Given the description of an element on the screen output the (x, y) to click on. 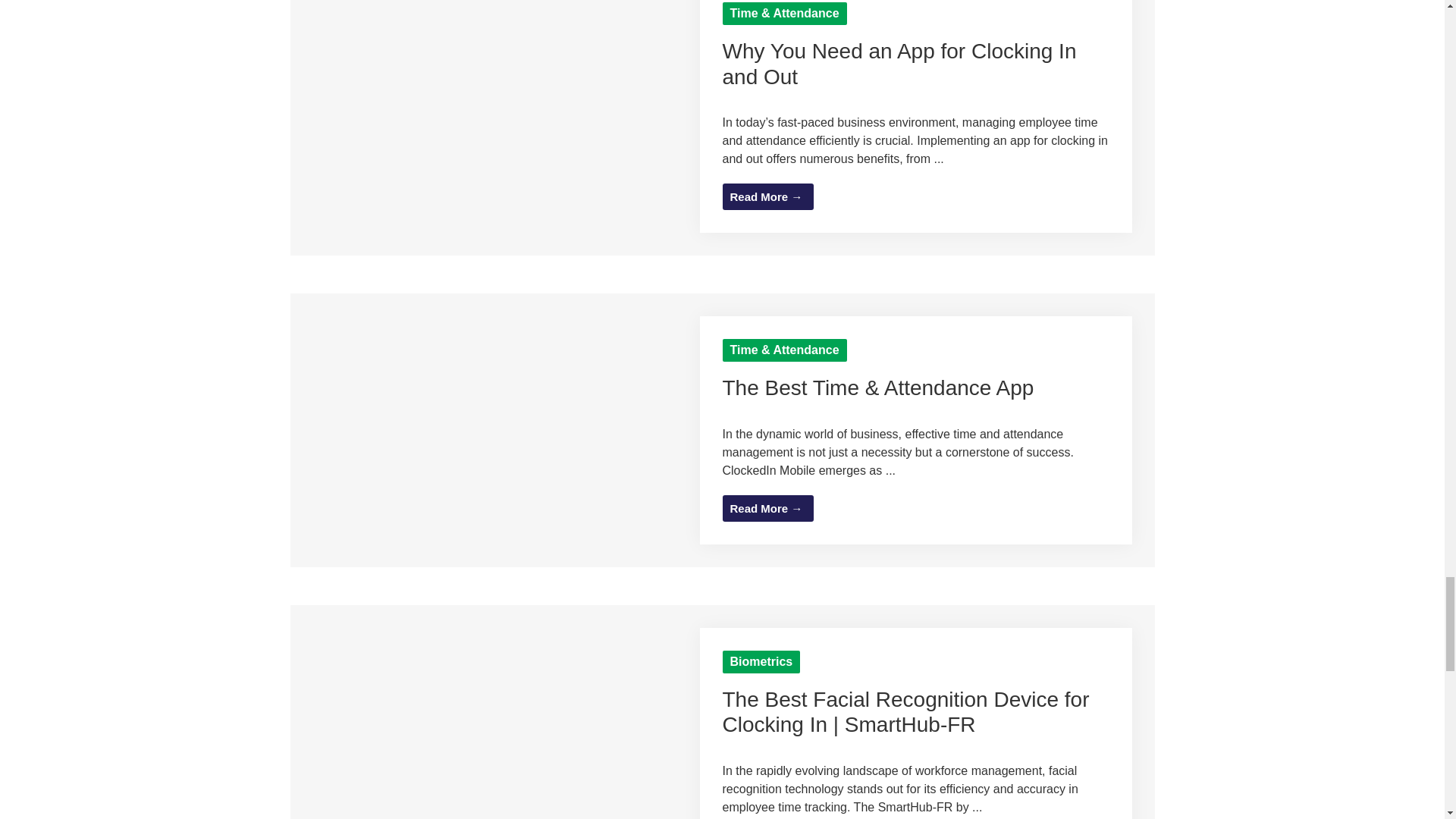
Why You Need an App for Clocking In and Out (505, 178)
